Given the description of an element on the screen output the (x, y) to click on. 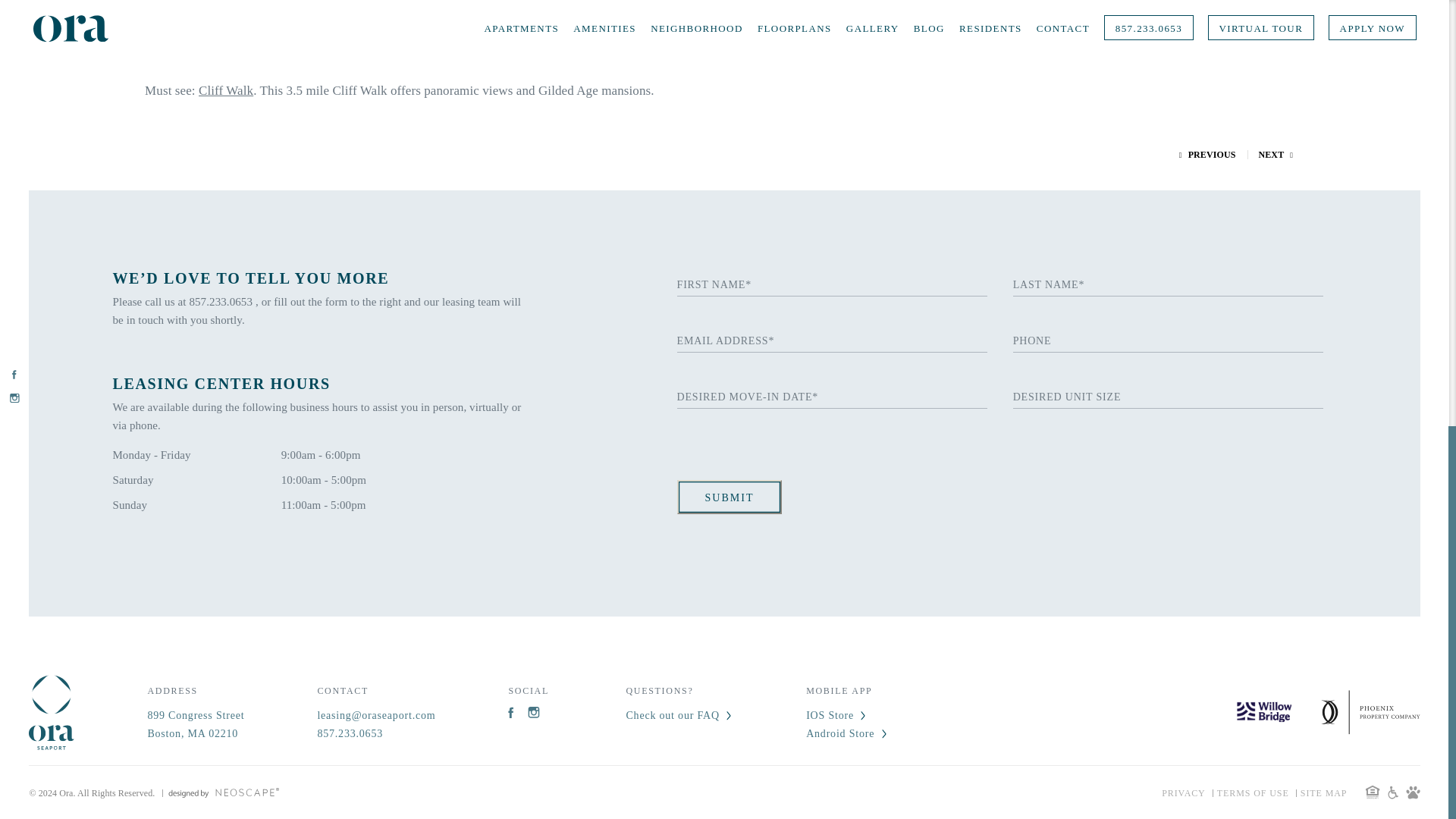
IOS Store (847, 715)
click to go to Previous post (1207, 154)
click here to visit Facebook Page (513, 712)
click to go to Next post (1275, 154)
Android Store (847, 733)
Submit (730, 496)
Click here to email ORA Boston Seaport (376, 715)
Cliff Walk (225, 90)
Facebook (513, 712)
Click here to call ORA Boston Seaport (195, 724)
Submit (376, 733)
Call ORA Seaport (730, 496)
TERMS OF USE (222, 301)
Instagram (1252, 795)
